Given the description of an element on the screen output the (x, y) to click on. 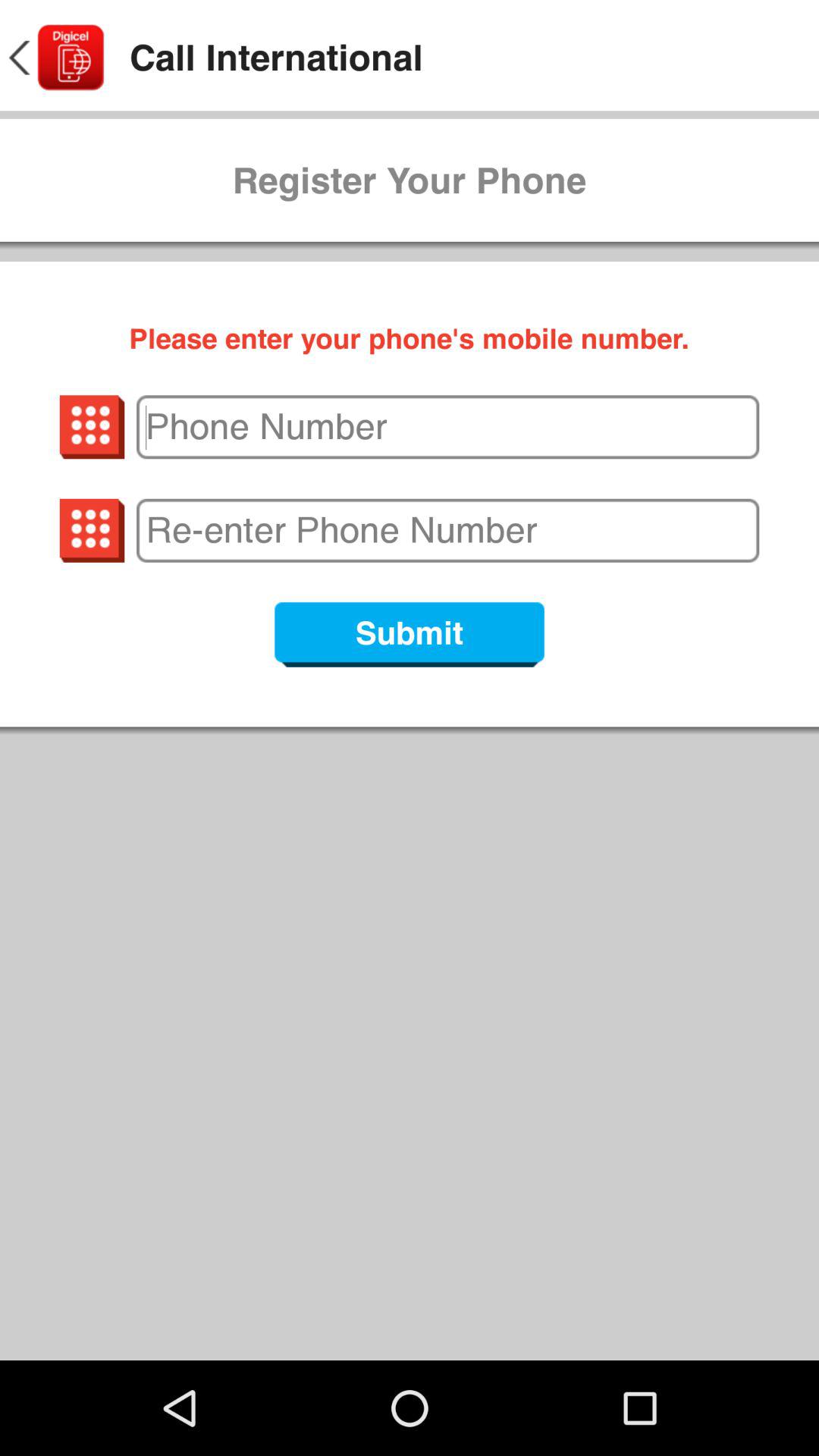
re enter phone number (447, 530)
